Given the description of an element on the screen output the (x, y) to click on. 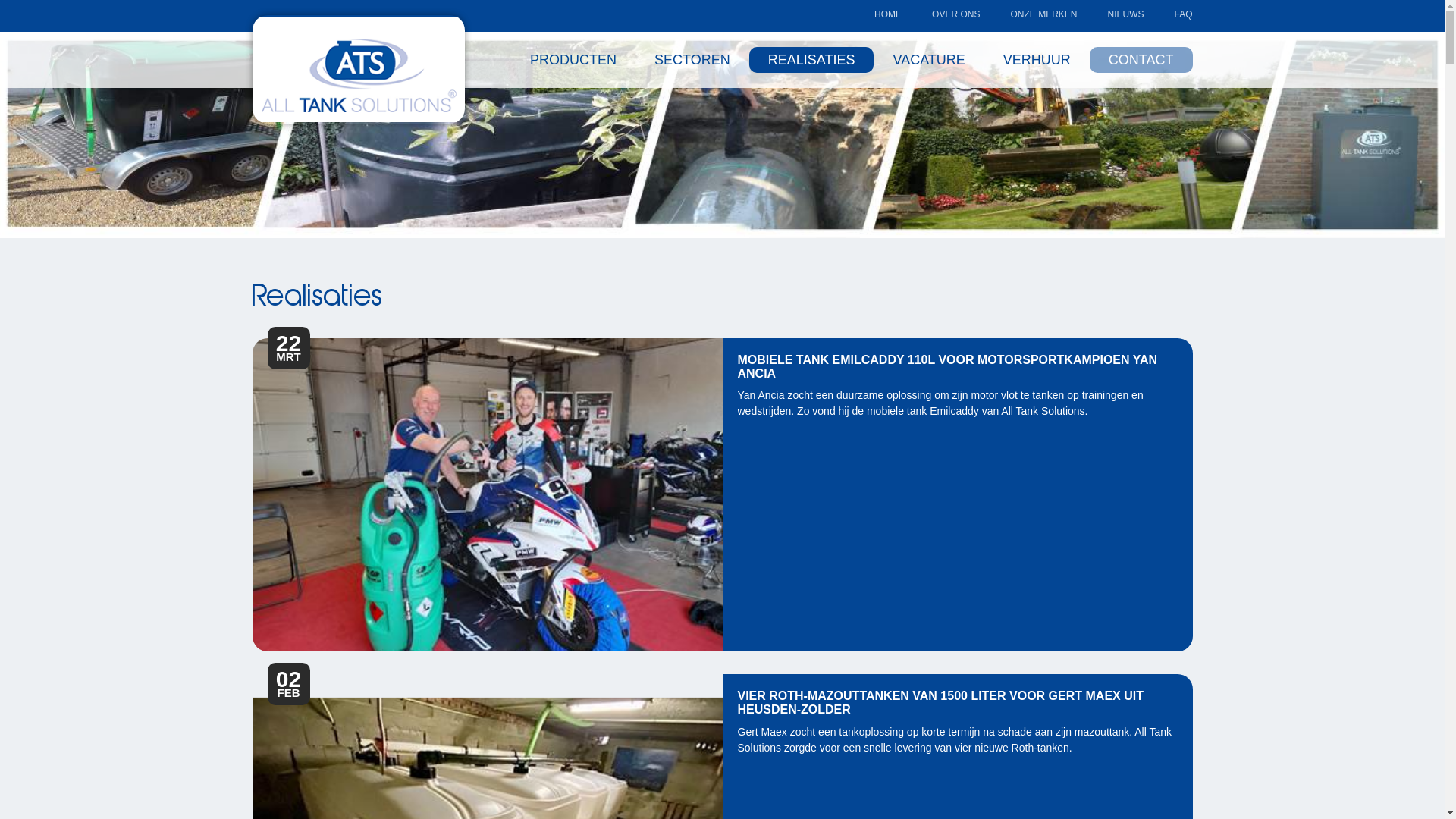
VERHUUR Element type: text (1036, 59)
NIEUWS Element type: text (1125, 13)
REALISATIES Element type: text (811, 59)
HOME Element type: text (887, 13)
CONTACT Element type: text (1140, 59)
OVER ONS Element type: text (955, 13)
PRODUCTEN Element type: text (573, 59)
FAQ Element type: text (1182, 13)
VACATURE Element type: text (928, 59)
SECTOREN Element type: text (692, 59)
ONZE MERKEN Element type: text (1043, 13)
